Given the description of an element on the screen output the (x, y) to click on. 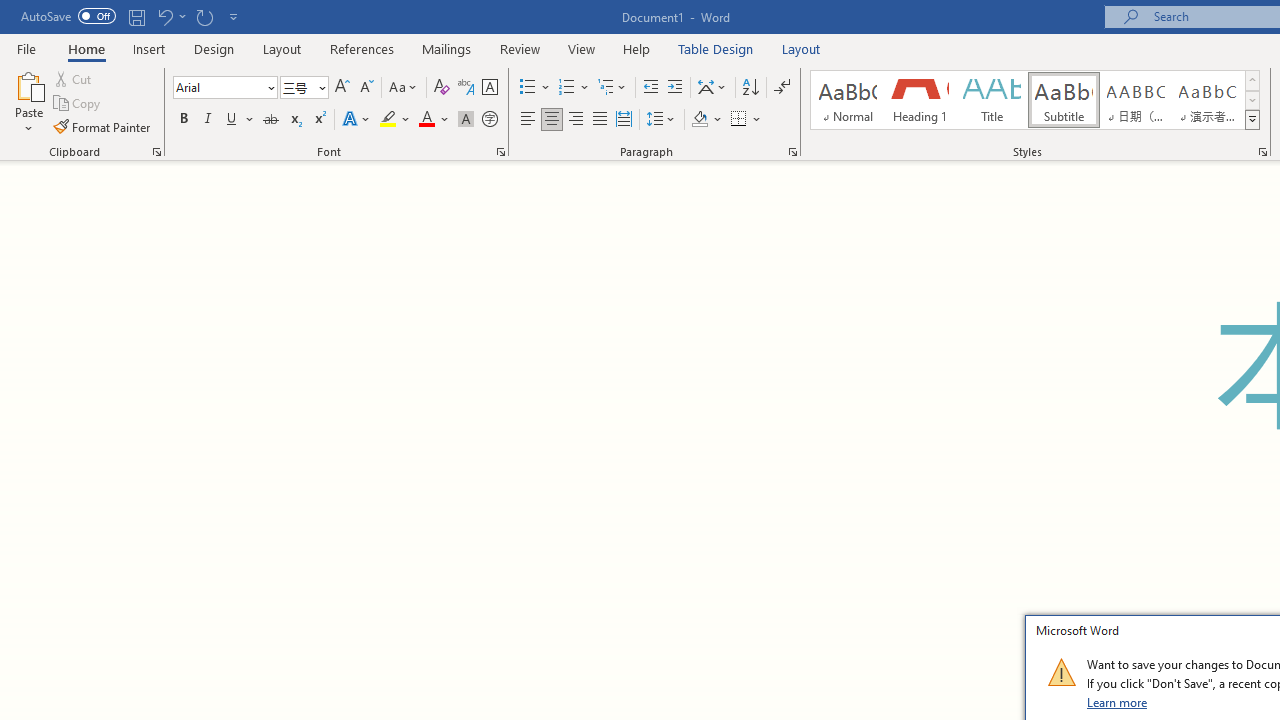
Customize Quick Access Toolbar (234, 15)
Character Border (489, 87)
Grow Font (342, 87)
Phonetic Guide... (465, 87)
Styles... (1262, 151)
Text Effects and Typography (357, 119)
Center (552, 119)
Learn more (1118, 702)
Row up (1252, 79)
Format Painter (103, 126)
Enclose Characters... (489, 119)
